Given the description of an element on the screen output the (x, y) to click on. 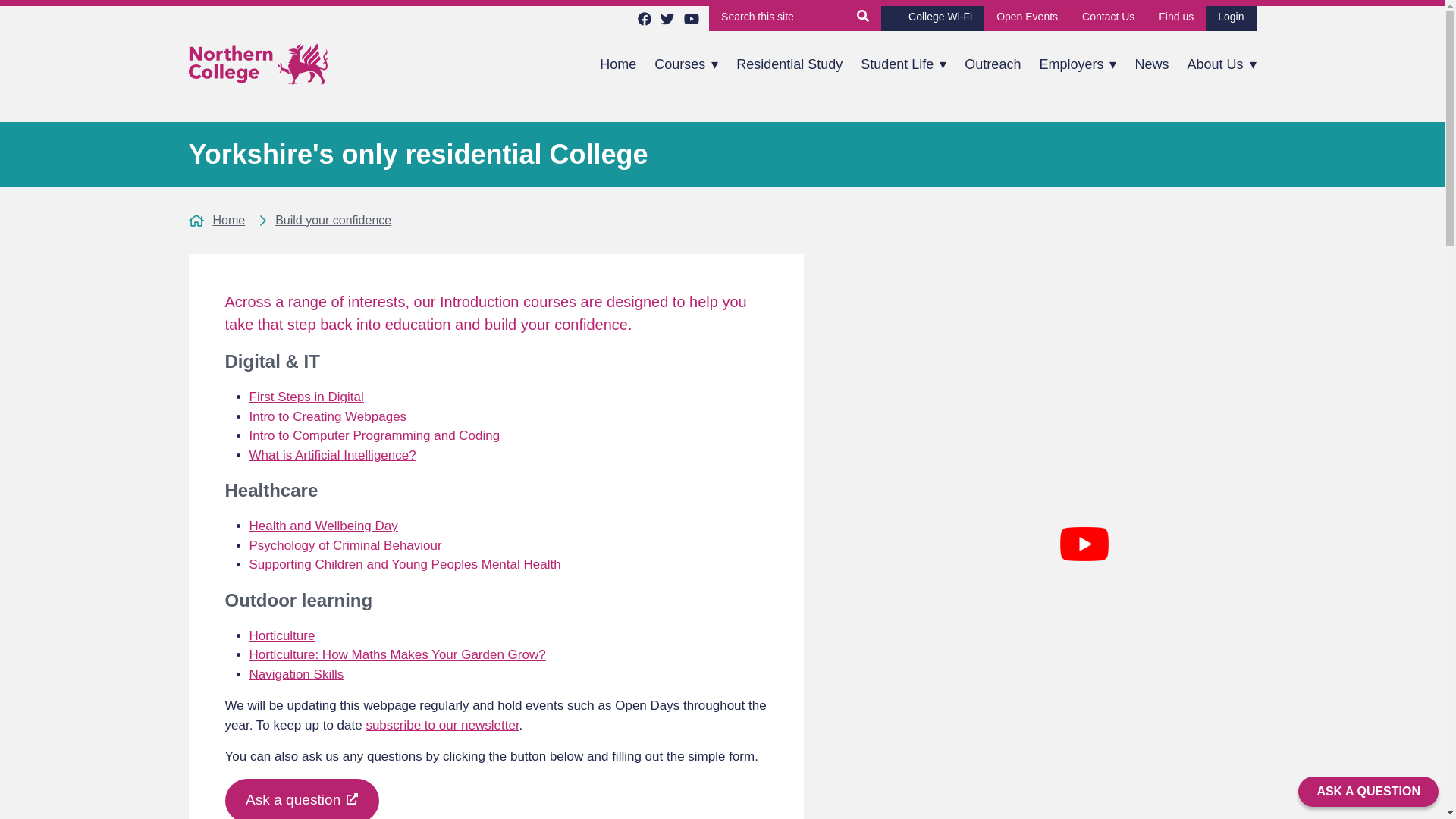
Employers (1077, 64)
Home (618, 64)
Northern College Facebook (643, 18)
Courses (685, 64)
News (1151, 64)
Residential Study (788, 64)
Contact Us (1108, 18)
Student Life (903, 64)
College Wi-Fi (932, 18)
Open Events (1027, 18)
